Given the description of an element on the screen output the (x, y) to click on. 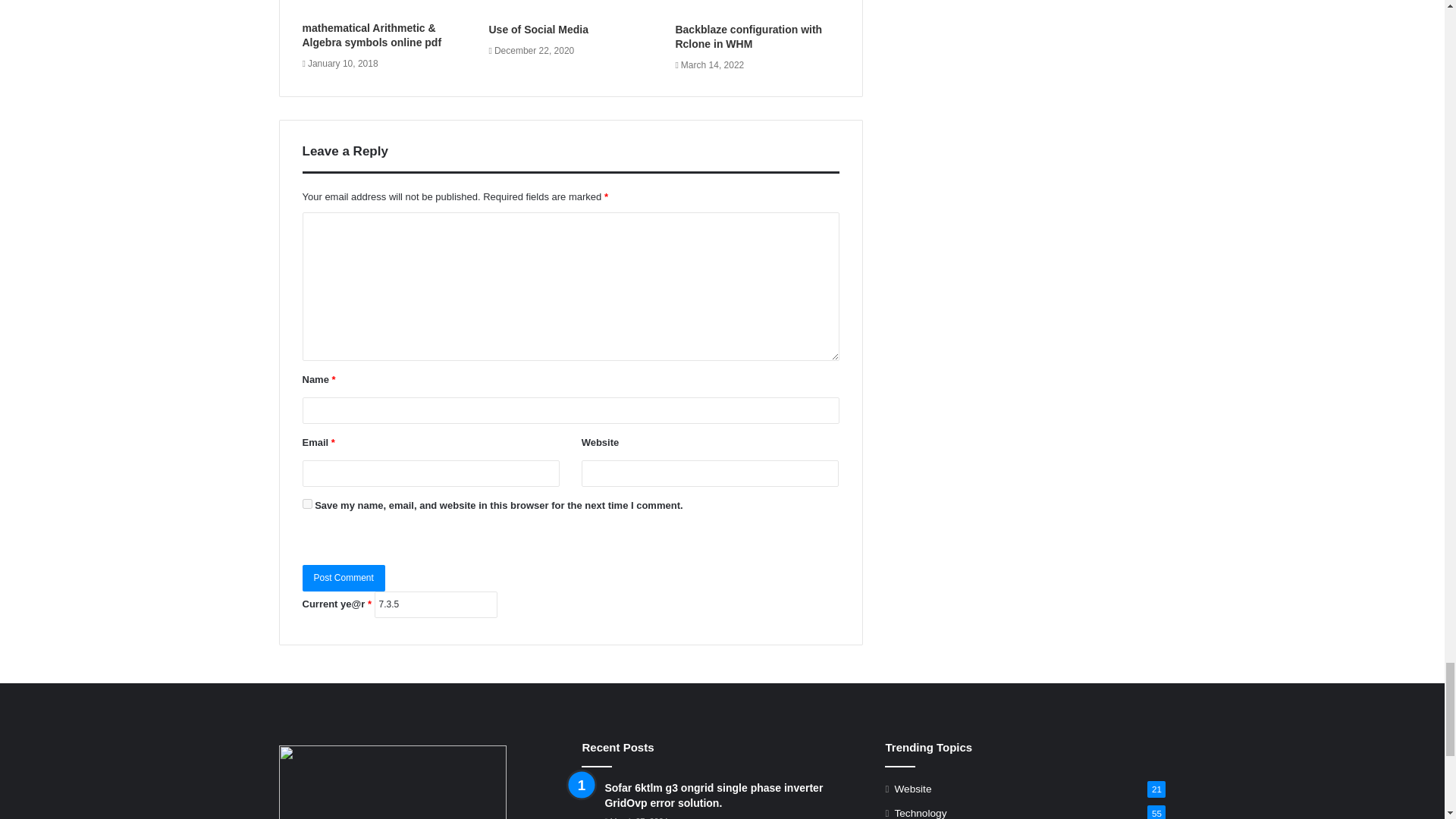
Post Comment (342, 578)
yes (306, 503)
7.3.5 (435, 604)
